Given the description of an element on the screen output the (x, y) to click on. 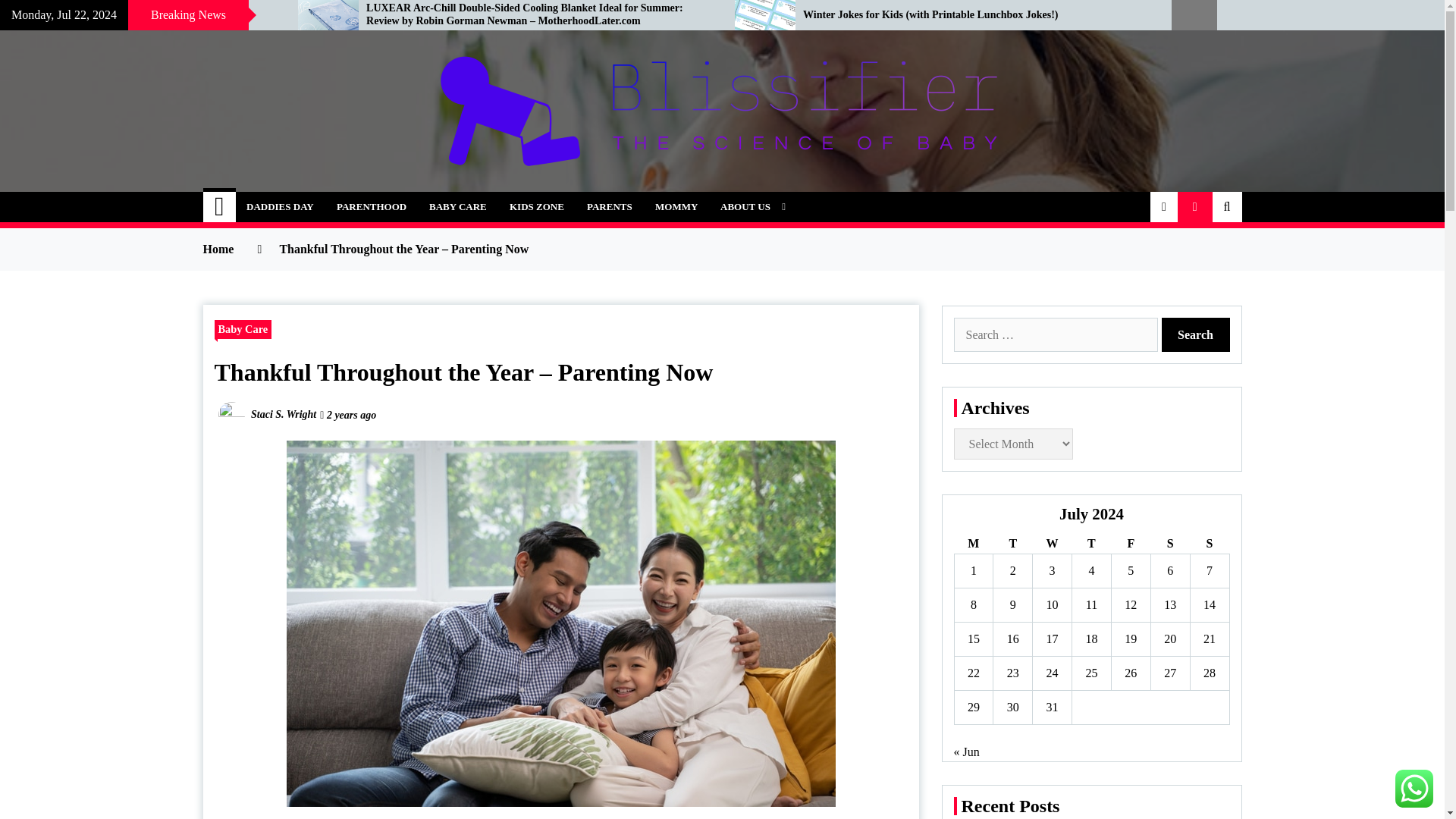
Search (1195, 334)
Sunday (1208, 543)
Wednesday (1051, 543)
Thursday (1091, 543)
Gift Ideas For New Parents, Not The Baby (137, 15)
Home (219, 206)
Monday (972, 543)
Saturday (1169, 543)
Tuesday (1012, 543)
Friday (1130, 543)
Search (1195, 334)
